Given the description of an element on the screen output the (x, y) to click on. 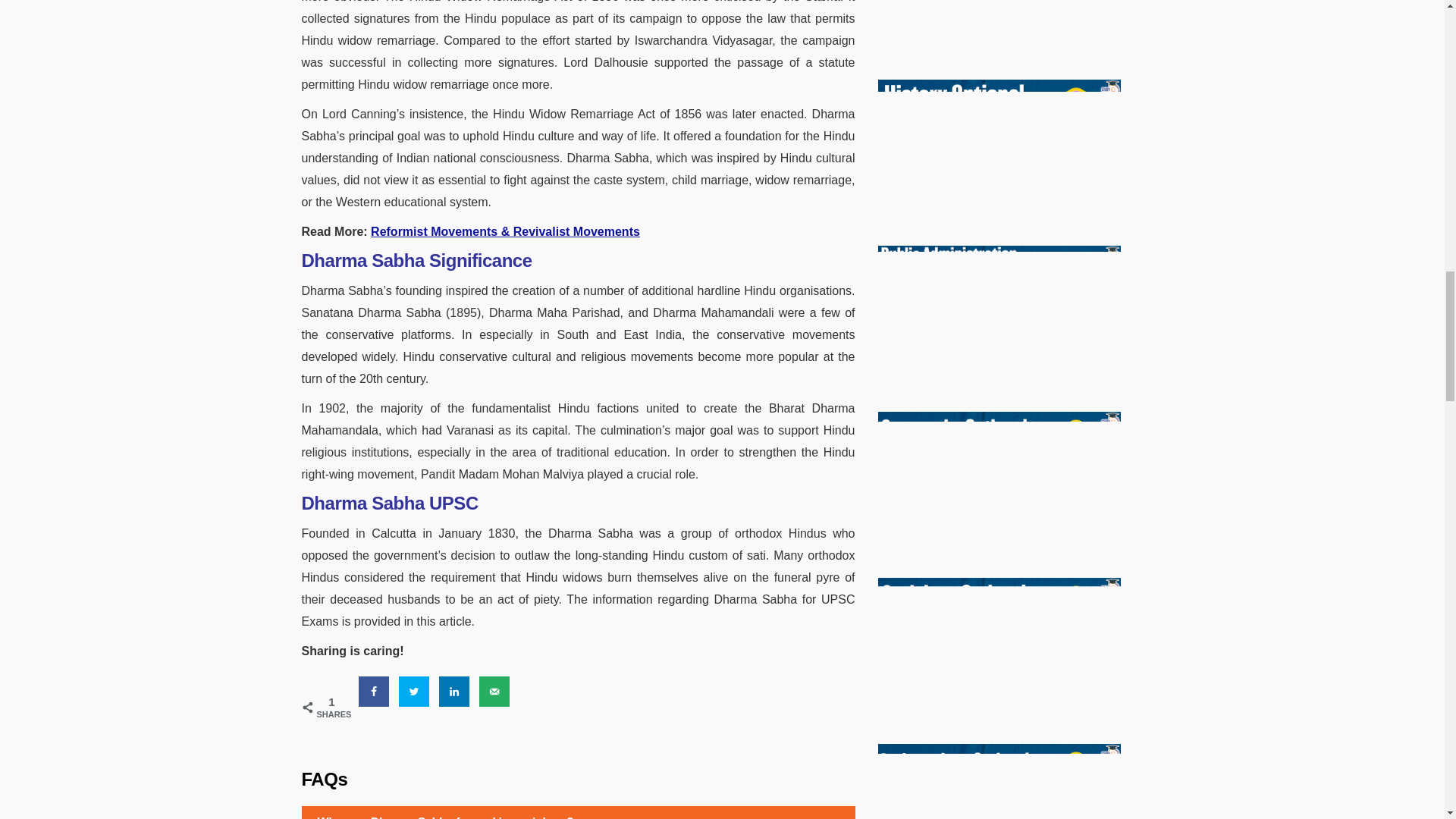
Share on Facebook (373, 691)
Share on LinkedIn (453, 691)
Share on Twitter (413, 691)
Send over email (494, 691)
